Given the description of an element on the screen output the (x, y) to click on. 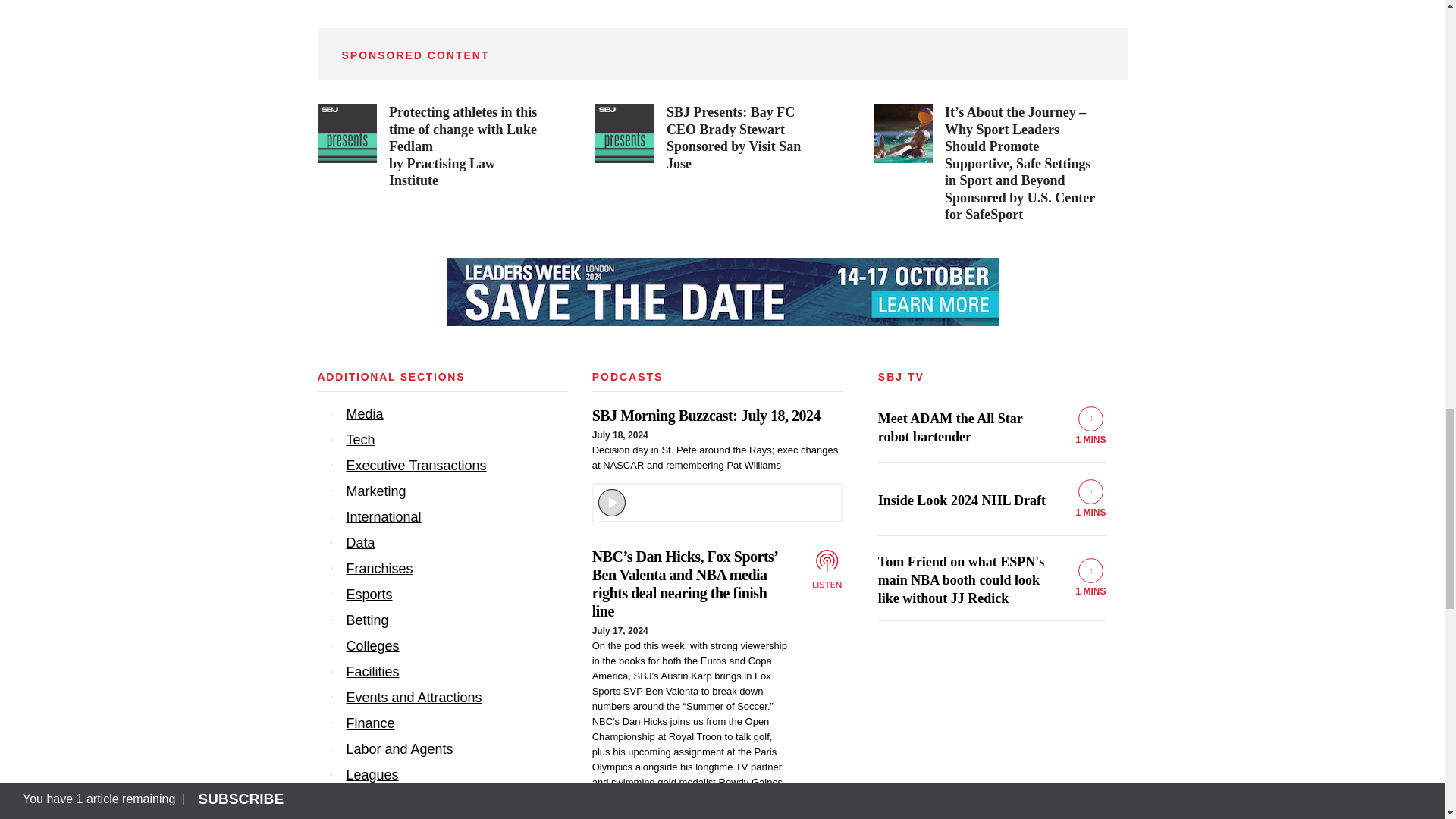
3rd party ad content (430, 147)
3rd party ad content (986, 165)
3rd party ad content (708, 139)
3rd party ad content (721, 291)
